Given the description of an element on the screen output the (x, y) to click on. 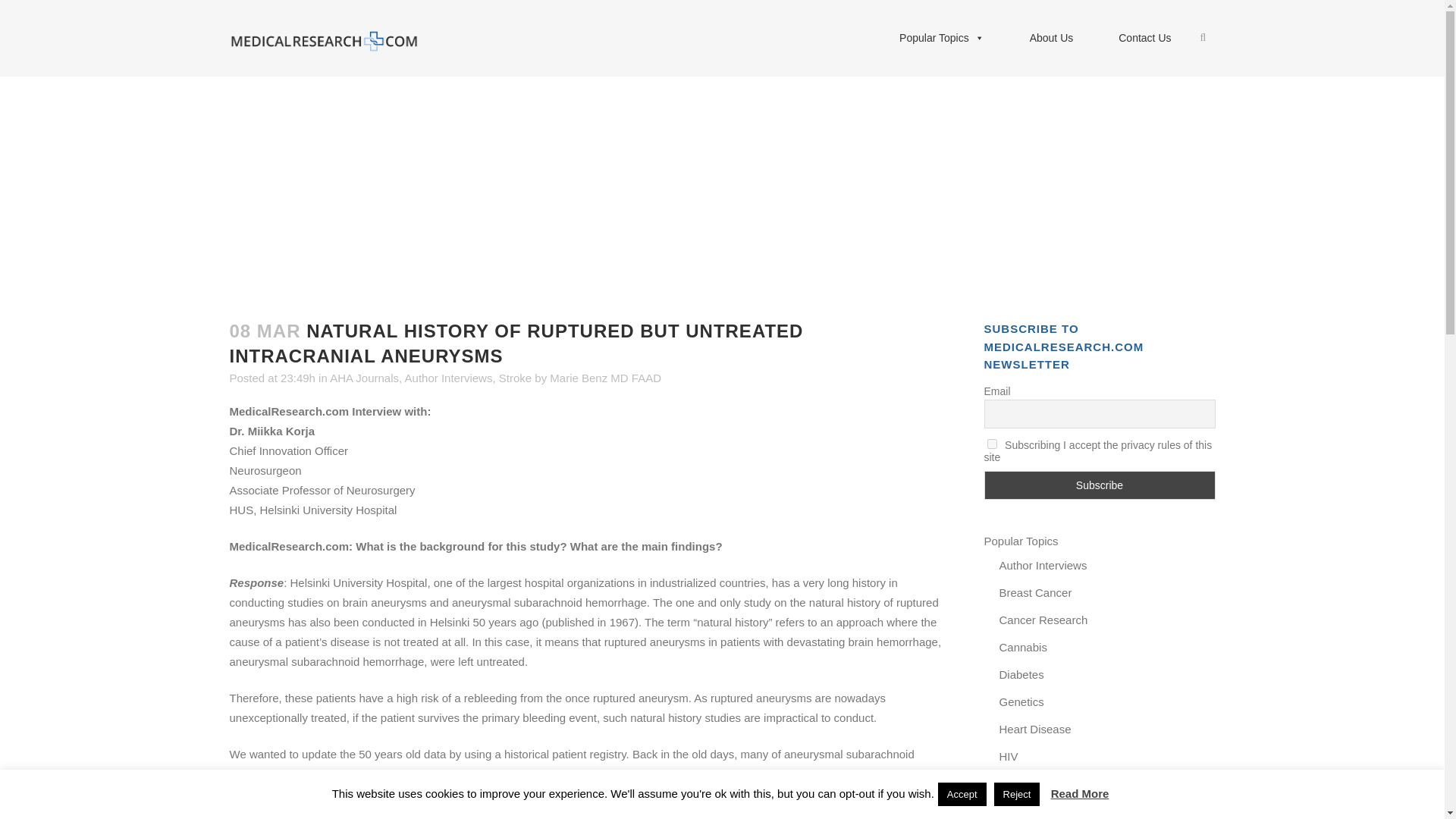
Popular Topics (941, 37)
About Us (1051, 37)
Contact Us (1144, 37)
on (992, 443)
Subscribe (1099, 484)
